Given the description of an element on the screen output the (x, y) to click on. 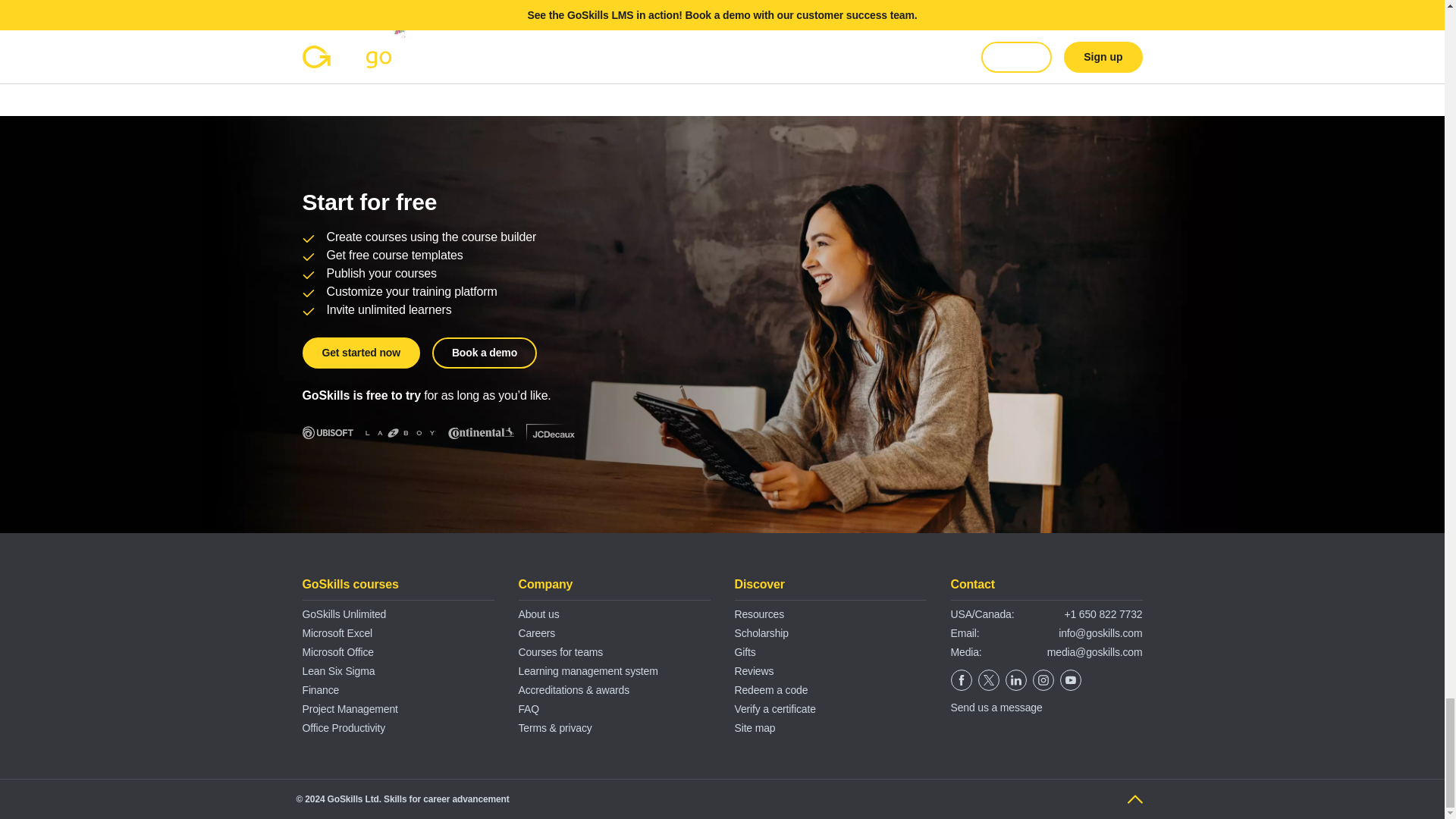
Office Productivity (343, 727)
Project Management (349, 708)
awards (611, 689)
Microsoft Excel (336, 633)
Finance (320, 689)
About us (538, 613)
Learning management system (588, 671)
Careers (537, 633)
Courses for teams (561, 652)
Book a demo (484, 352)
Lean Six Sigma (337, 671)
Accreditations (550, 689)
Get started now (360, 352)
GoSkills Unlimited (343, 613)
Microsoft Office (336, 652)
